Given the description of an element on the screen output the (x, y) to click on. 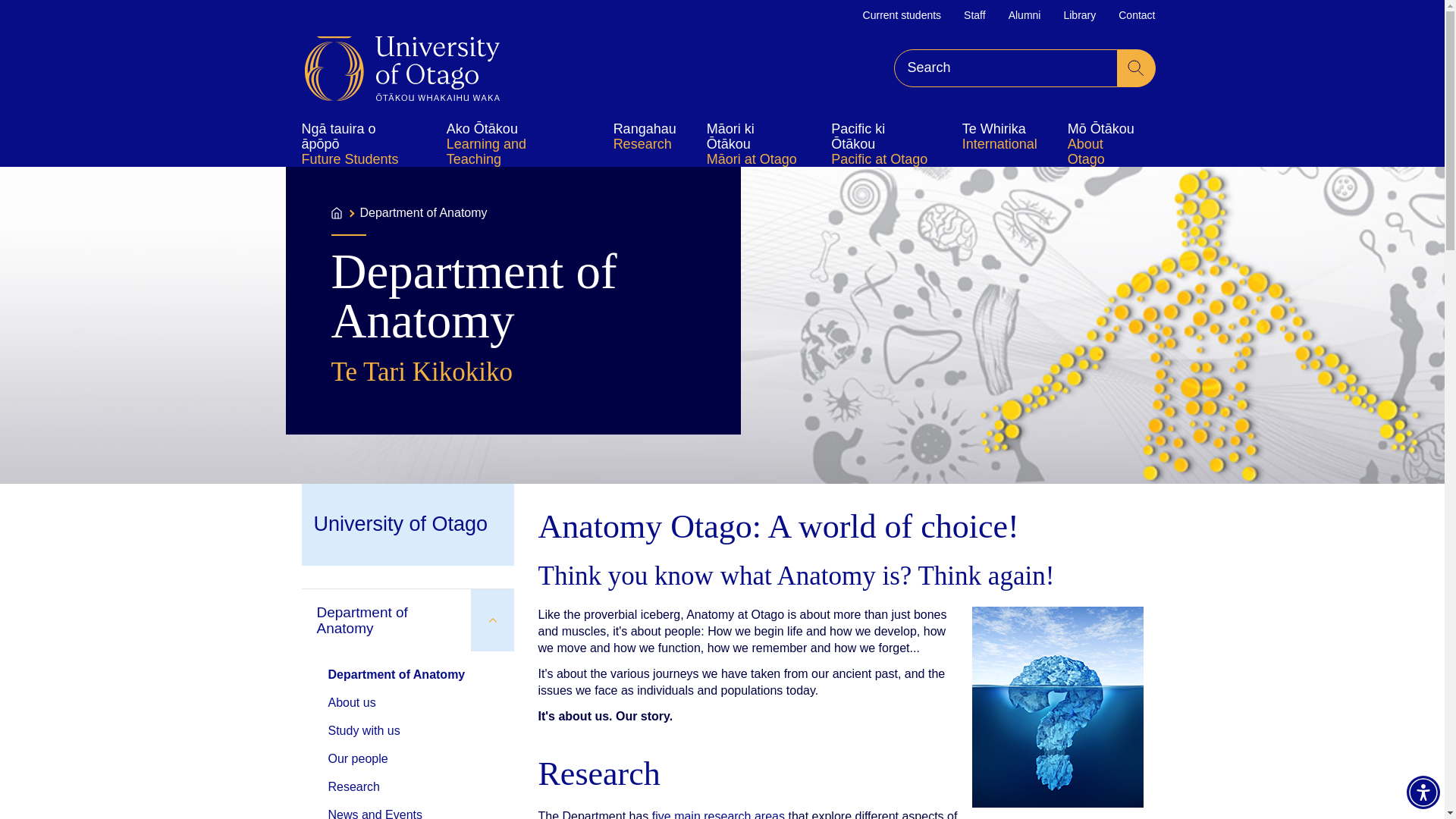
Current students (902, 15)
Alumni (1025, 15)
Library (1079, 15)
Home (402, 68)
Staff (974, 15)
Accessibility Menu (1422, 792)
Contact (1136, 15)
